Given the description of an element on the screen output the (x, y) to click on. 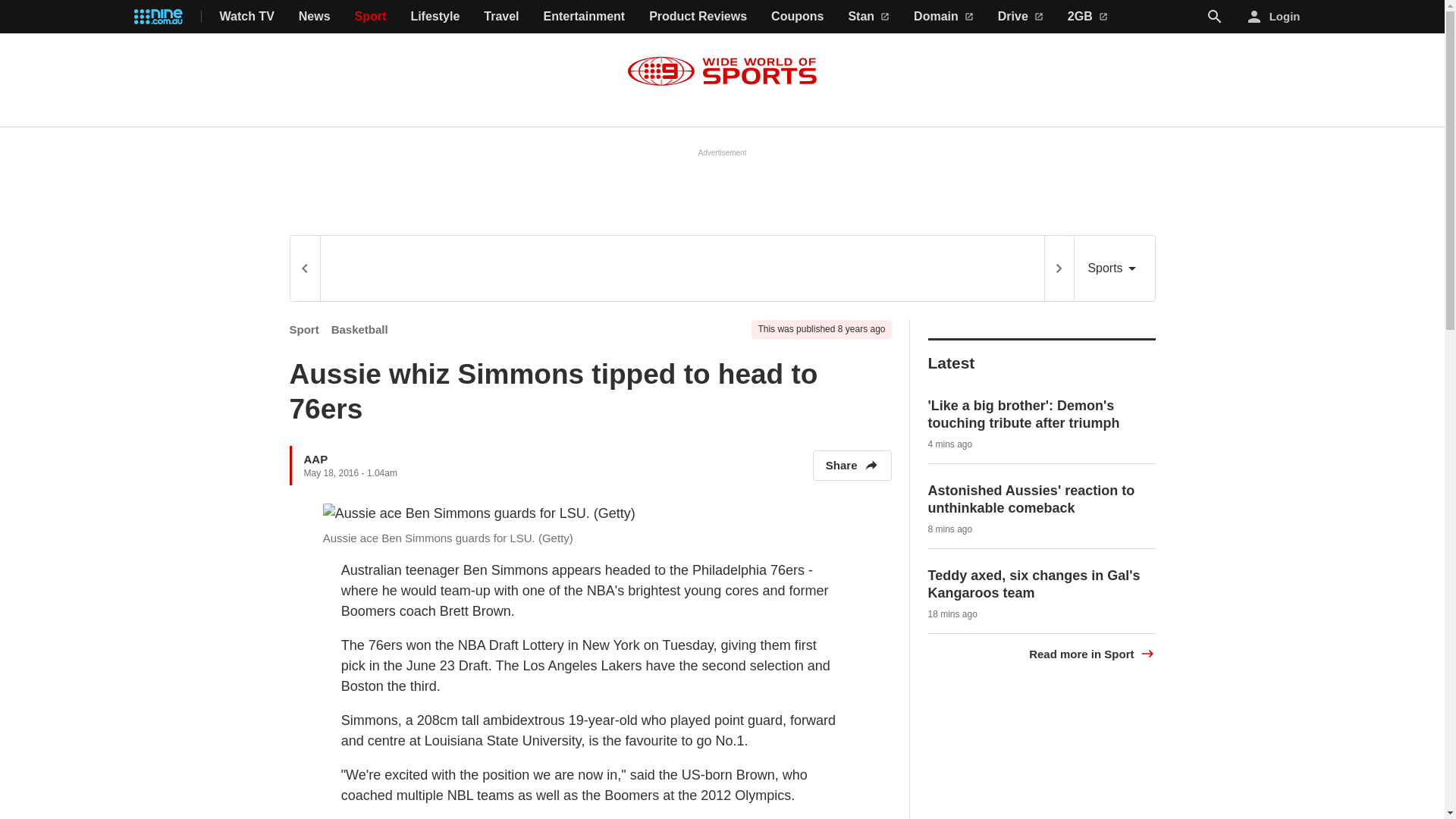
Product Reviews (697, 16)
Watch TV (247, 16)
Login (1273, 16)
Share (851, 465)
Sport (371, 16)
Read more in Sport (1091, 653)
Basketball (359, 328)
2GB (1087, 16)
Astonished Aussies' reaction to unthinkable comeback (1031, 499)
Sports (1114, 268)
